Given the description of an element on the screen output the (x, y) to click on. 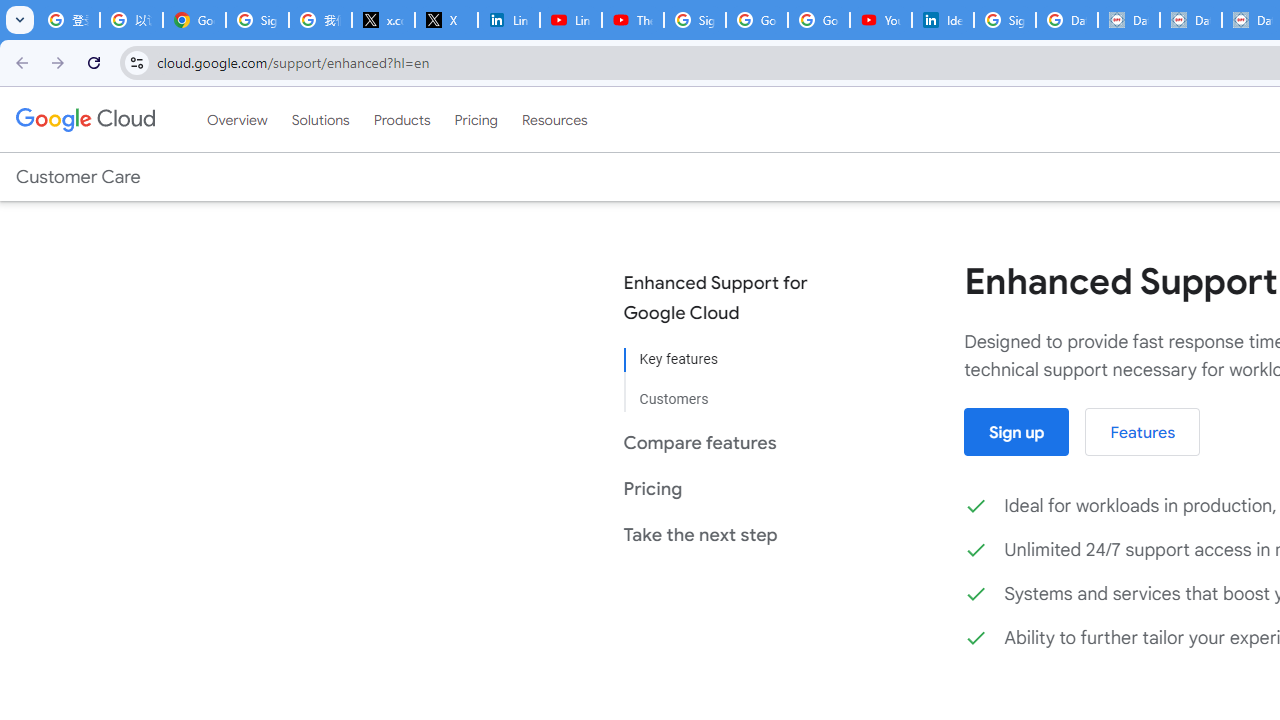
Resources (553, 119)
Identity verification via Persona | LinkedIn Help (942, 20)
Sign up (1016, 431)
